Given the description of an element on the screen output the (x, y) to click on. 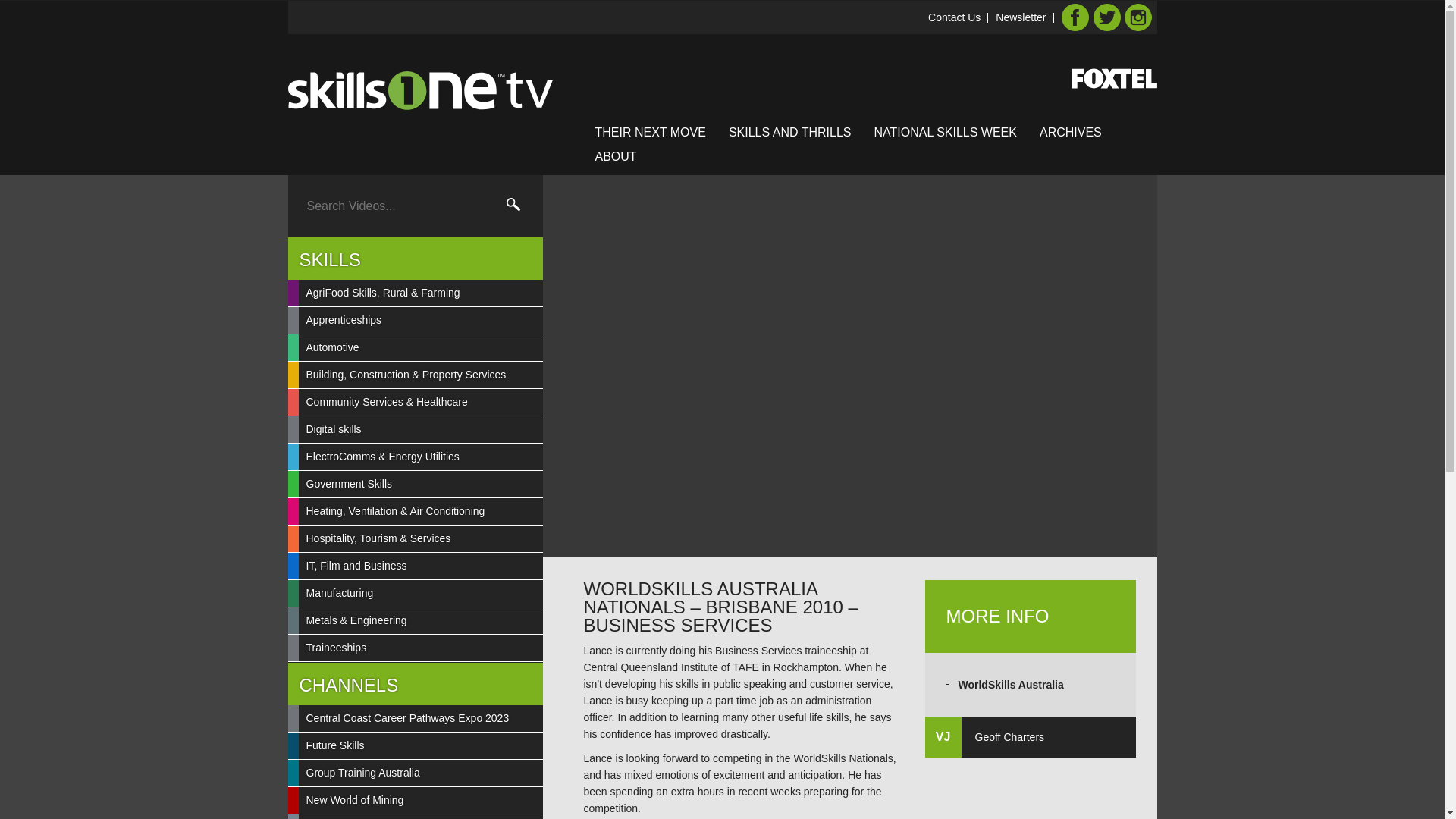
Facebook (1075, 17)
Twitter (1106, 17)
Twitter (1106, 17)
Apprenticeships (420, 320)
THEIR NEXT MOVE (649, 132)
SkillsOne (420, 90)
Newsletter (1020, 17)
WorldSkills Australia (1011, 684)
Search Videos... (400, 205)
Instagram (1138, 17)
